Given the description of an element on the screen output the (x, y) to click on. 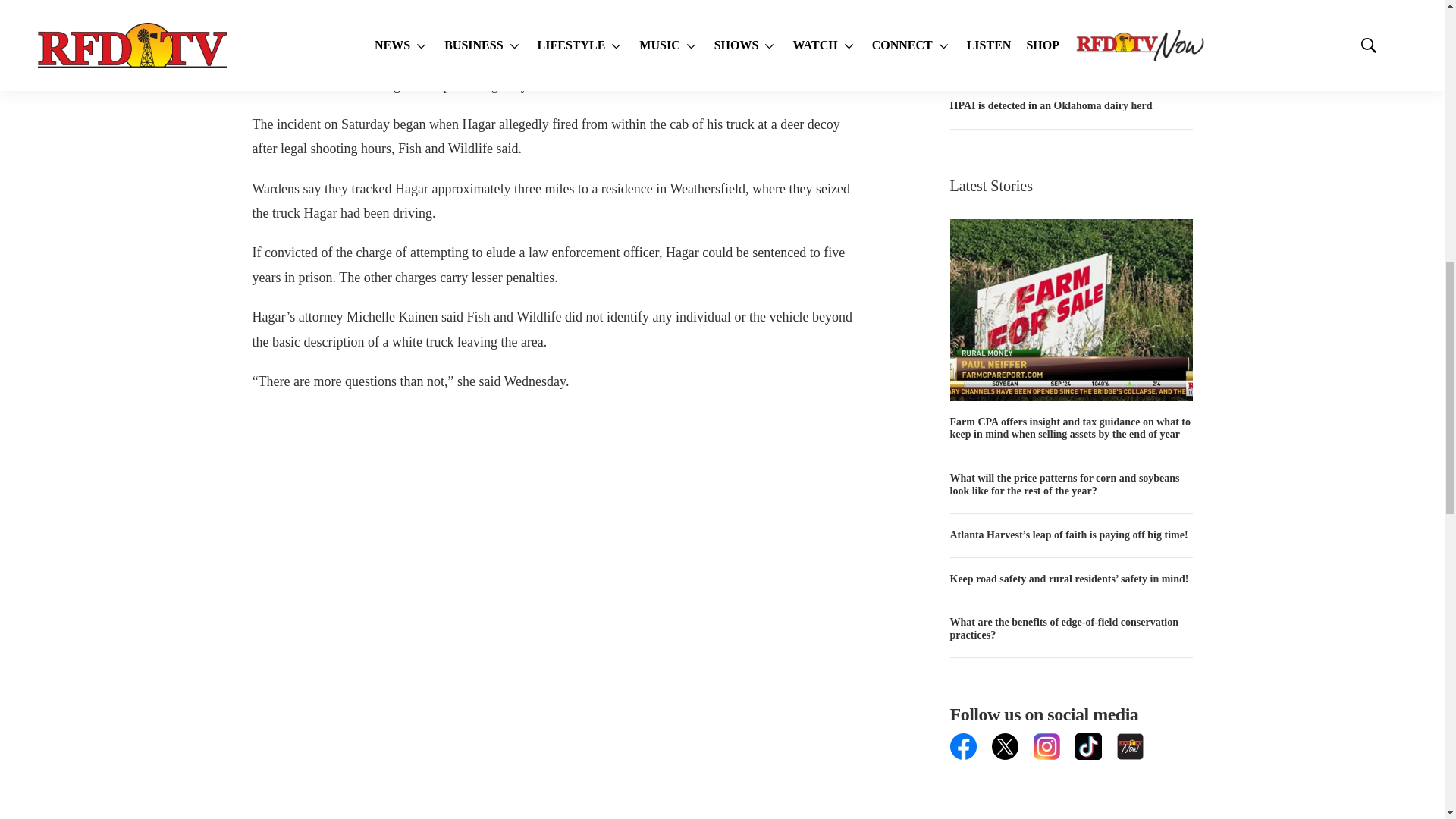
Signup Widget Embed (1070, 789)
